Given the description of an element on the screen output the (x, y) to click on. 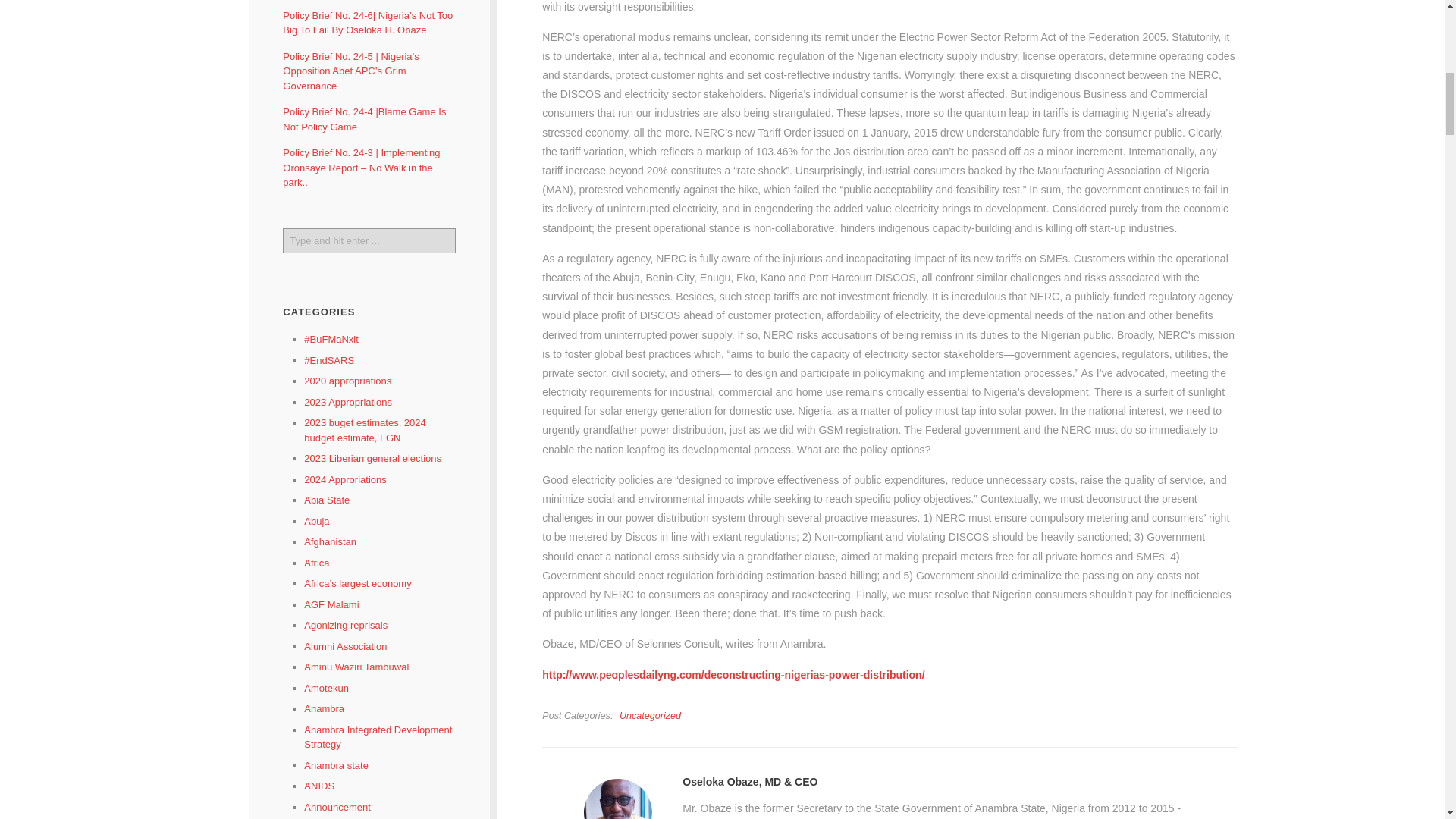
2023 buget estimates, 2024 budget estimate, FGN (364, 429)
Abuja (316, 521)
Afghanistan (330, 541)
Agonizing reprisals (345, 624)
Abia State (326, 500)
2023 Appropriations (347, 401)
AGF Malami (331, 604)
2024 Approriations (344, 479)
Uncategorized (650, 715)
2023 Liberian general elections (372, 458)
Africa (316, 562)
2020 appropriations (347, 380)
